Given the description of an element on the screen output the (x, y) to click on. 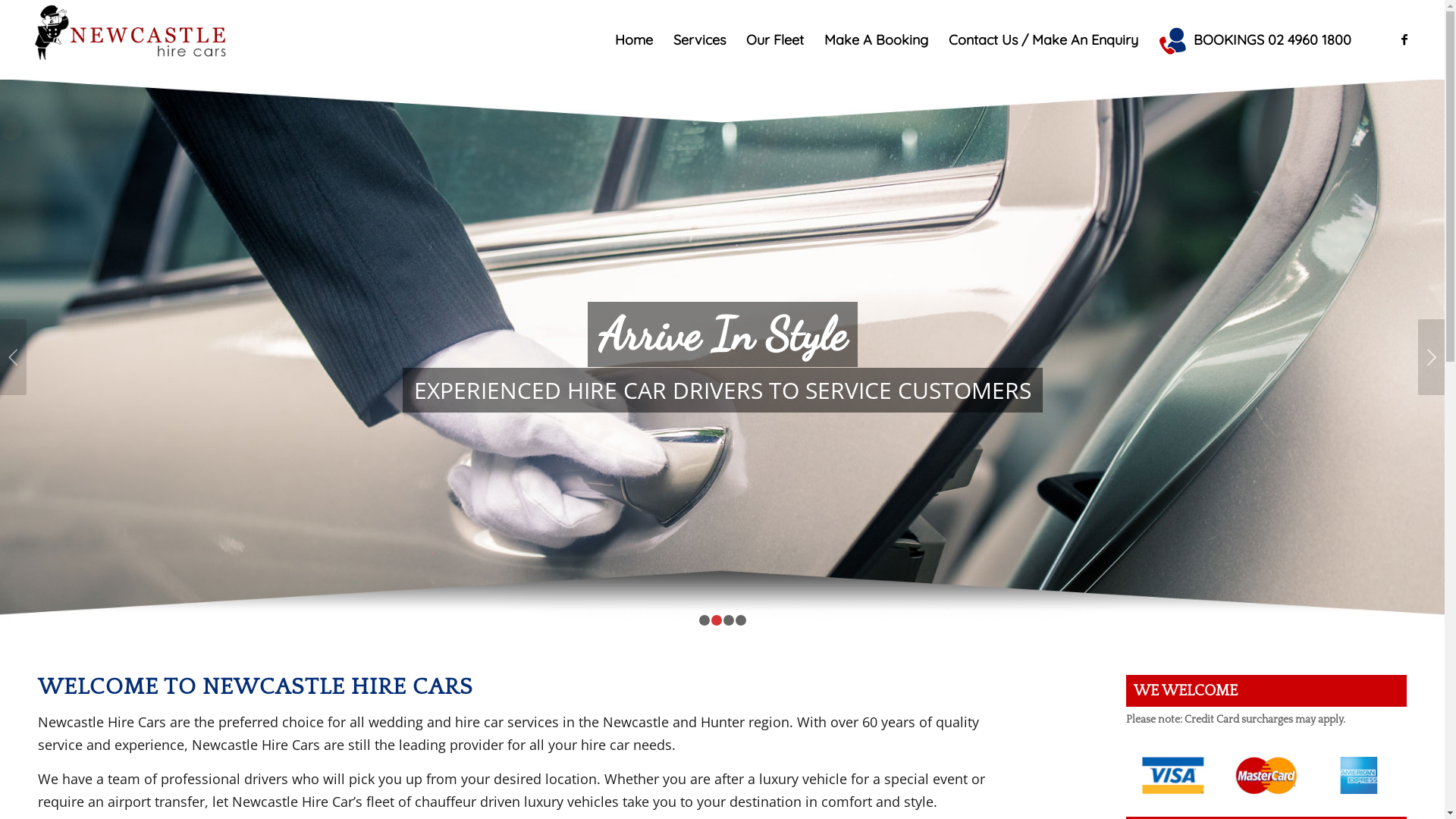
Our Fleet Element type: text (774, 39)
Contact Us / Make An Enquiry Element type: text (1043, 39)
BOOKINGS 02 4960 1800 Element type: text (1254, 39)
1 Element type: text (704, 620)
Services Element type: text (698, 39)
Next Element type: text (1431, 357)
4 Element type: text (740, 620)
3 Element type: text (728, 620)
Facebook Element type: hover (1404, 38)
Home Element type: text (633, 39)
header_home_chauffeur Element type: hover (722, 357)
Make A Booking Element type: text (875, 39)
Previous Element type: text (13, 357)
2 Element type: text (716, 620)
